Given the description of an element on the screen output the (x, y) to click on. 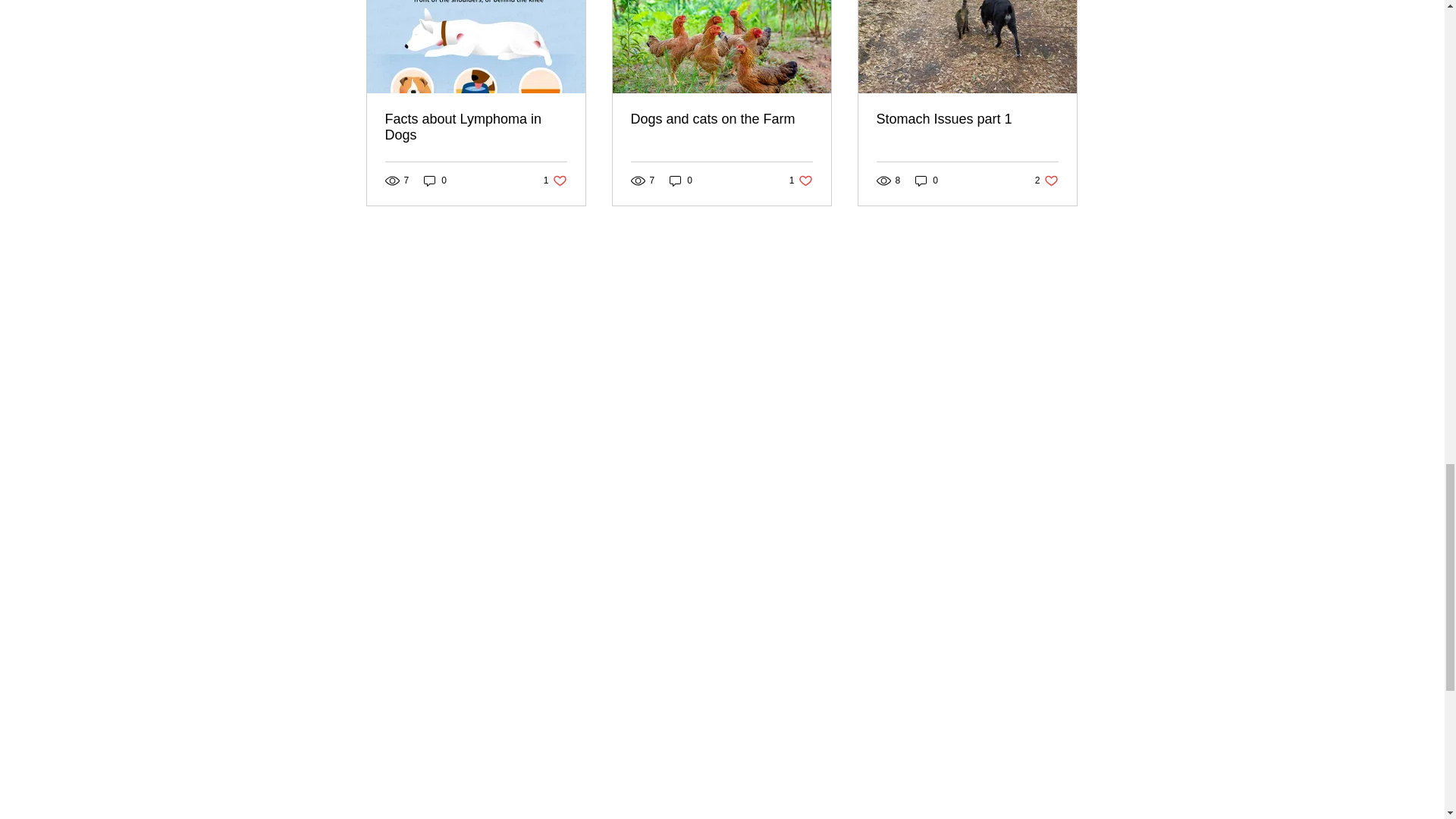
Dogs and cats on the Farm (721, 119)
Stomach Issues part 1 (967, 119)
0 (435, 180)
Facts about Lymphoma in Dogs (555, 180)
0 (800, 180)
0 (476, 127)
